Given the description of an element on the screen output the (x, y) to click on. 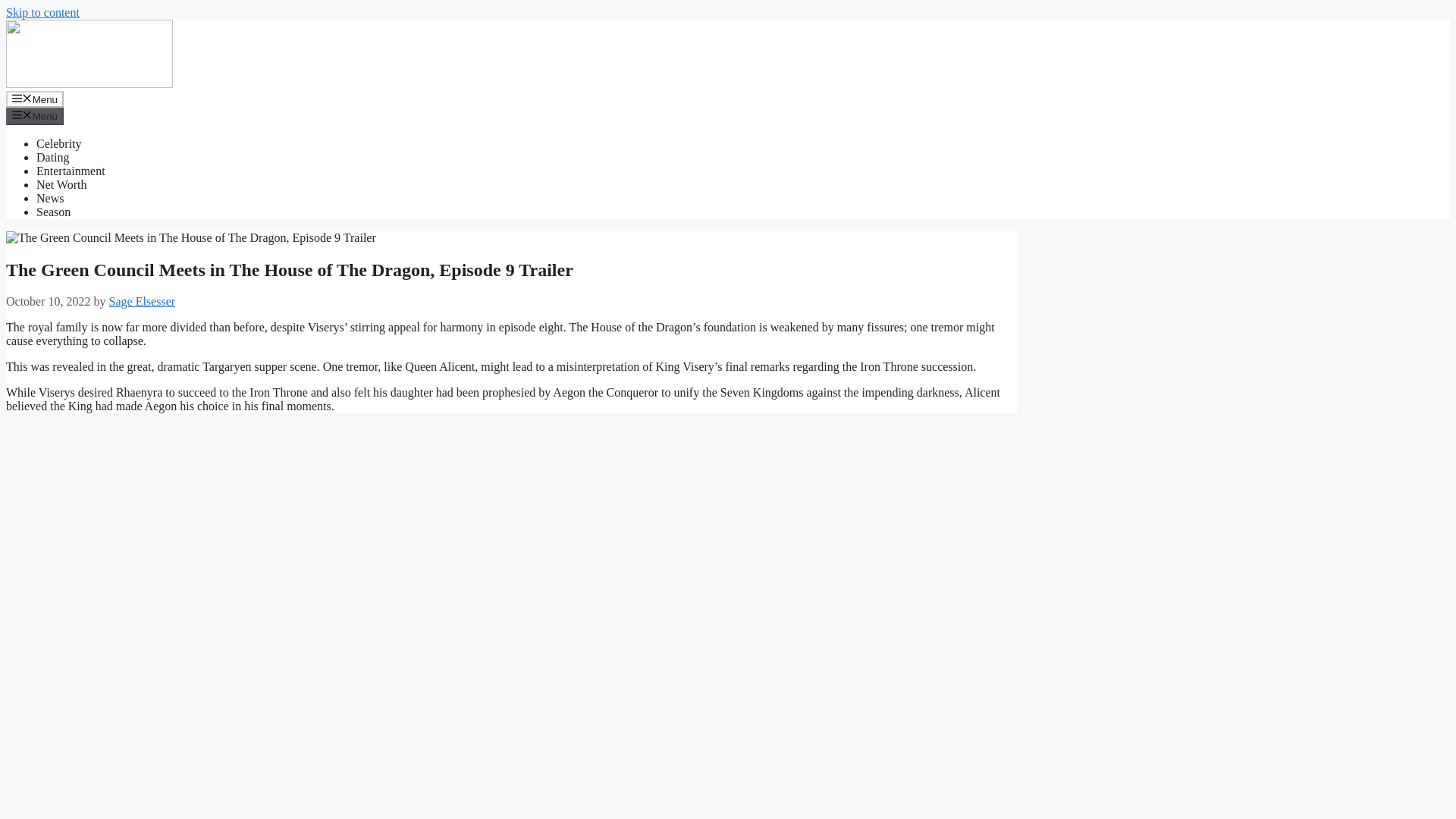
News (50, 197)
Entertainment (70, 170)
Sage Elsesser (142, 300)
Menu (34, 115)
Dating (52, 156)
View all posts by Sage Elsesser (142, 300)
Menu (34, 98)
Celebrity (58, 143)
Skip to content (42, 11)
Skip to content (42, 11)
